Given the description of an element on the screen output the (x, y) to click on. 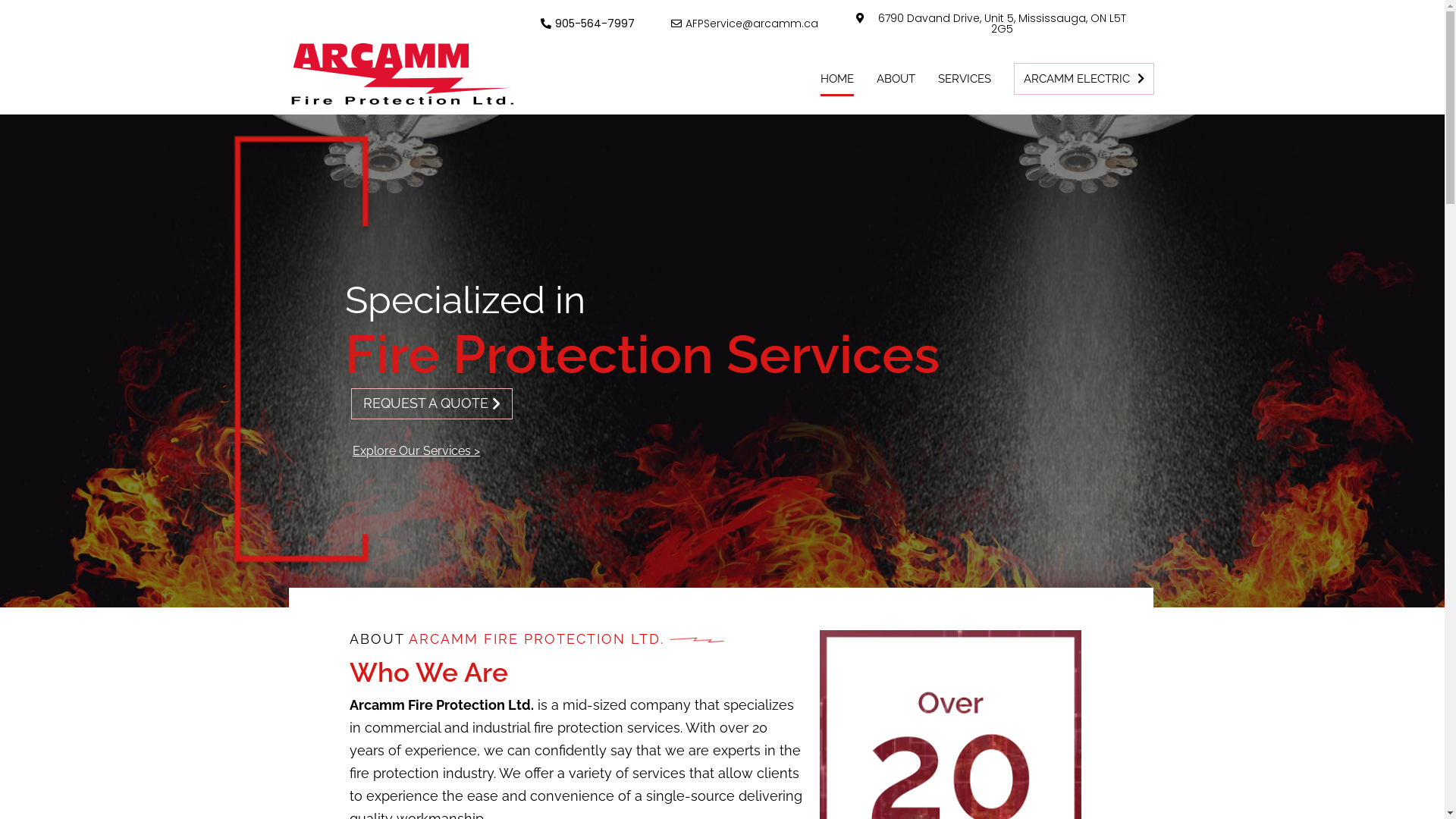
REQUEST A QUOTE Element type: text (431, 403)
ARCAMM ELECTRIC Element type: text (1083, 78)
AFPService@arcamm.ca Element type: text (744, 23)
SERVICES Element type: text (964, 79)
ABOUT Element type: text (895, 79)
Explore Our Services > Element type: text (416, 449)
6790 Davand Drive, Unit 5, Mississauga, ON L5T 2G5 Element type: text (989, 23)
905-564-7997 Element type: text (587, 23)
HOME Element type: text (836, 79)
